Given the description of an element on the screen output the (x, y) to click on. 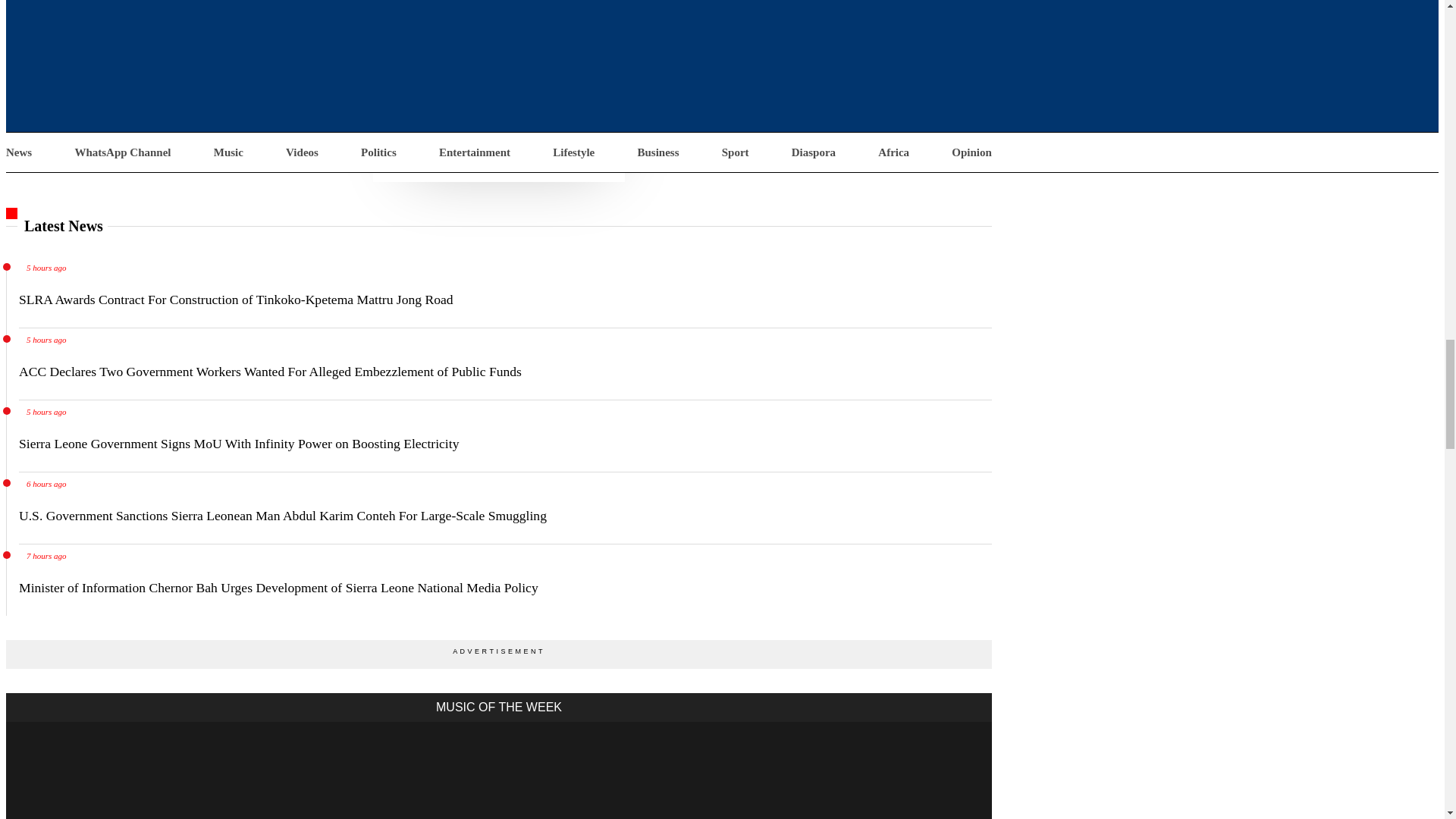
Subscribe (499, 158)
